Given the description of an element on the screen output the (x, y) to click on. 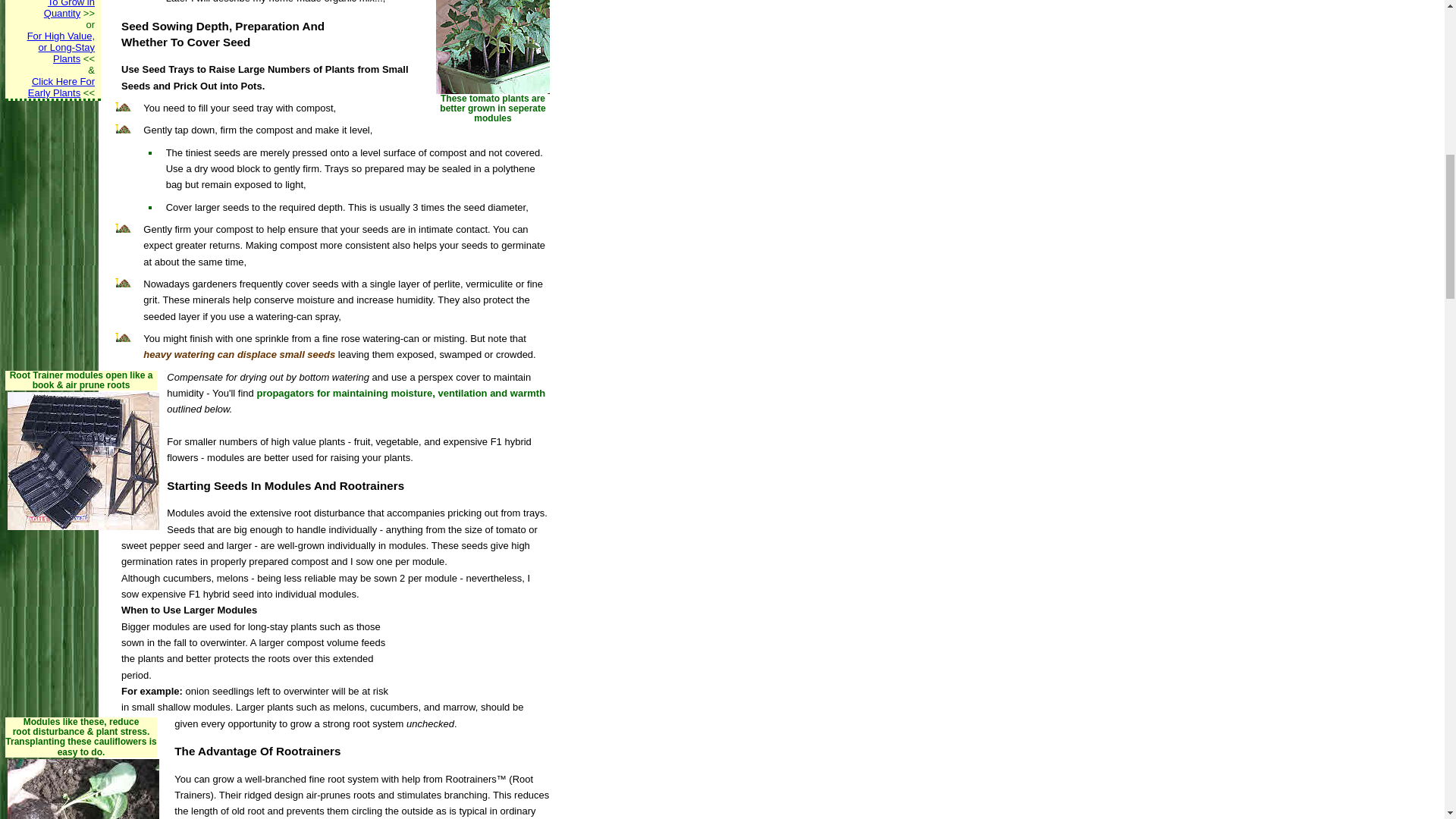
Advanced module design - Root Trainers open like a book (82, 460)
To Grow in Quantity (68, 9)
Starting Seeds on the Menu for organic gardening (60, 87)
tomato seedlings (49, 30)
Rootrainers make transplanting easy (492, 47)
